Given the description of an element on the screen output the (x, y) to click on. 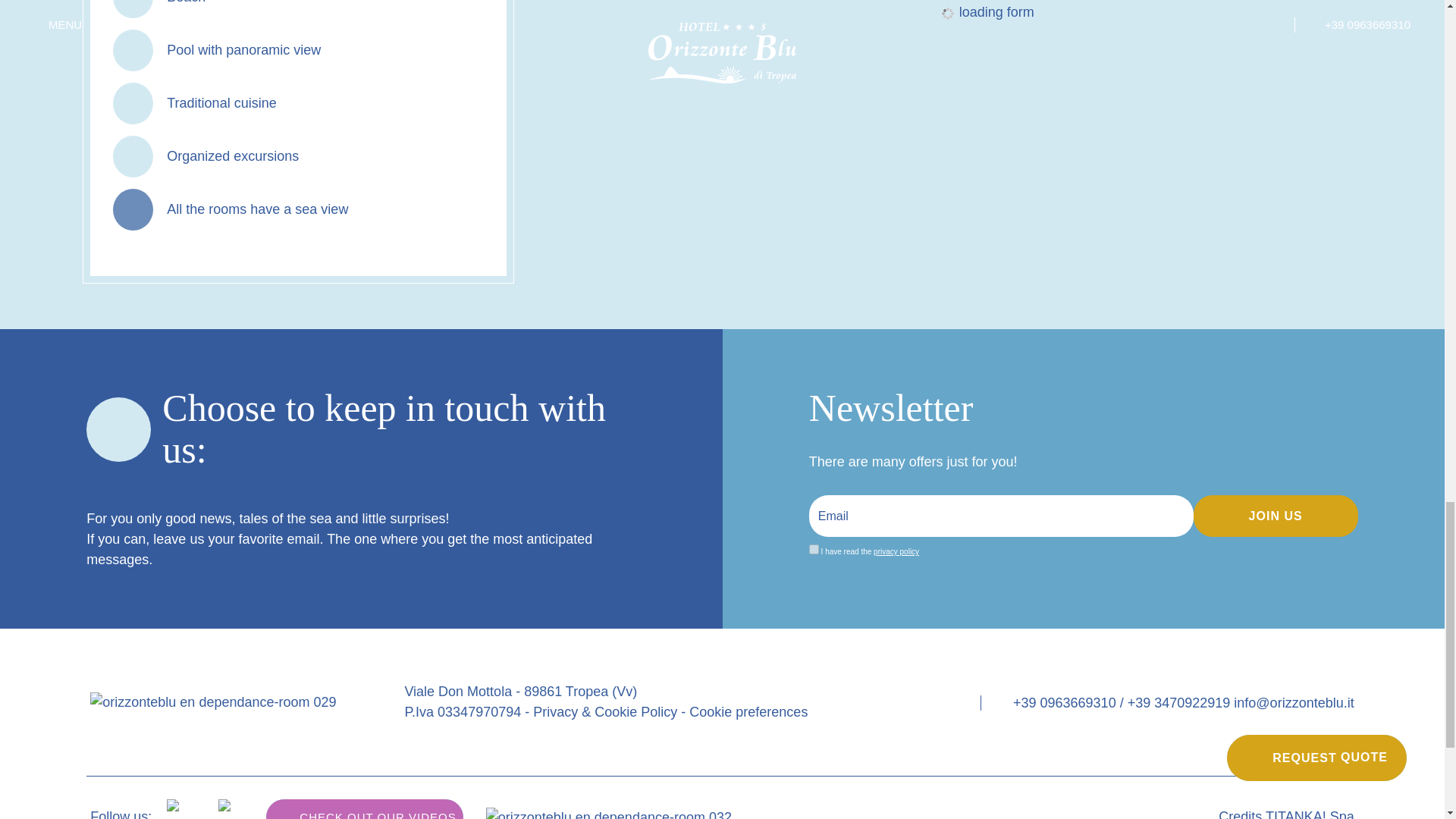
privacy policy (895, 551)
Cookie preferences (748, 711)
Join us (1275, 516)
P.Iva 03347970794 (462, 711)
